Given the description of an element on the screen output the (x, y) to click on. 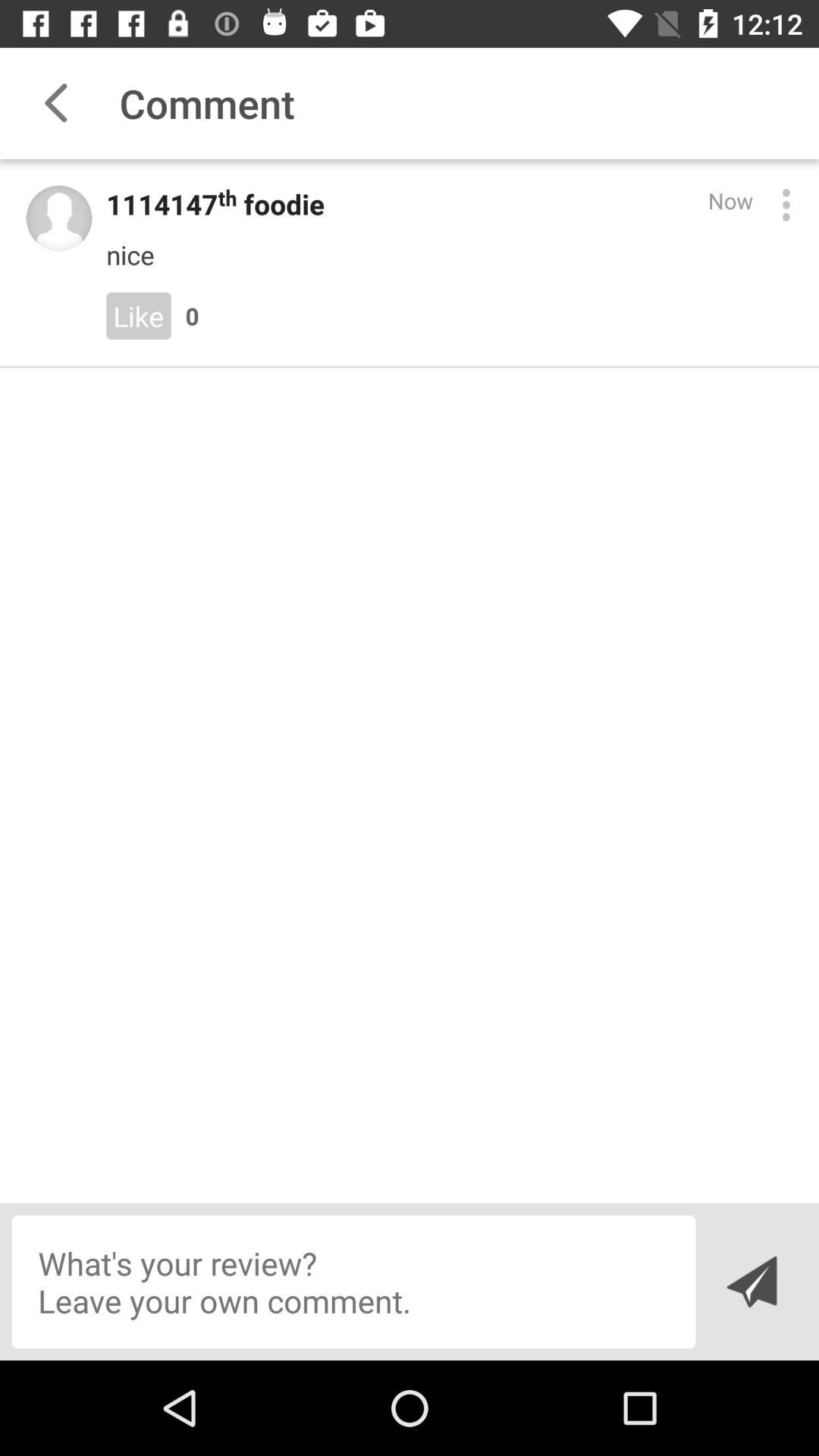
coment text box (353, 1281)
